Given the description of an element on the screen output the (x, y) to click on. 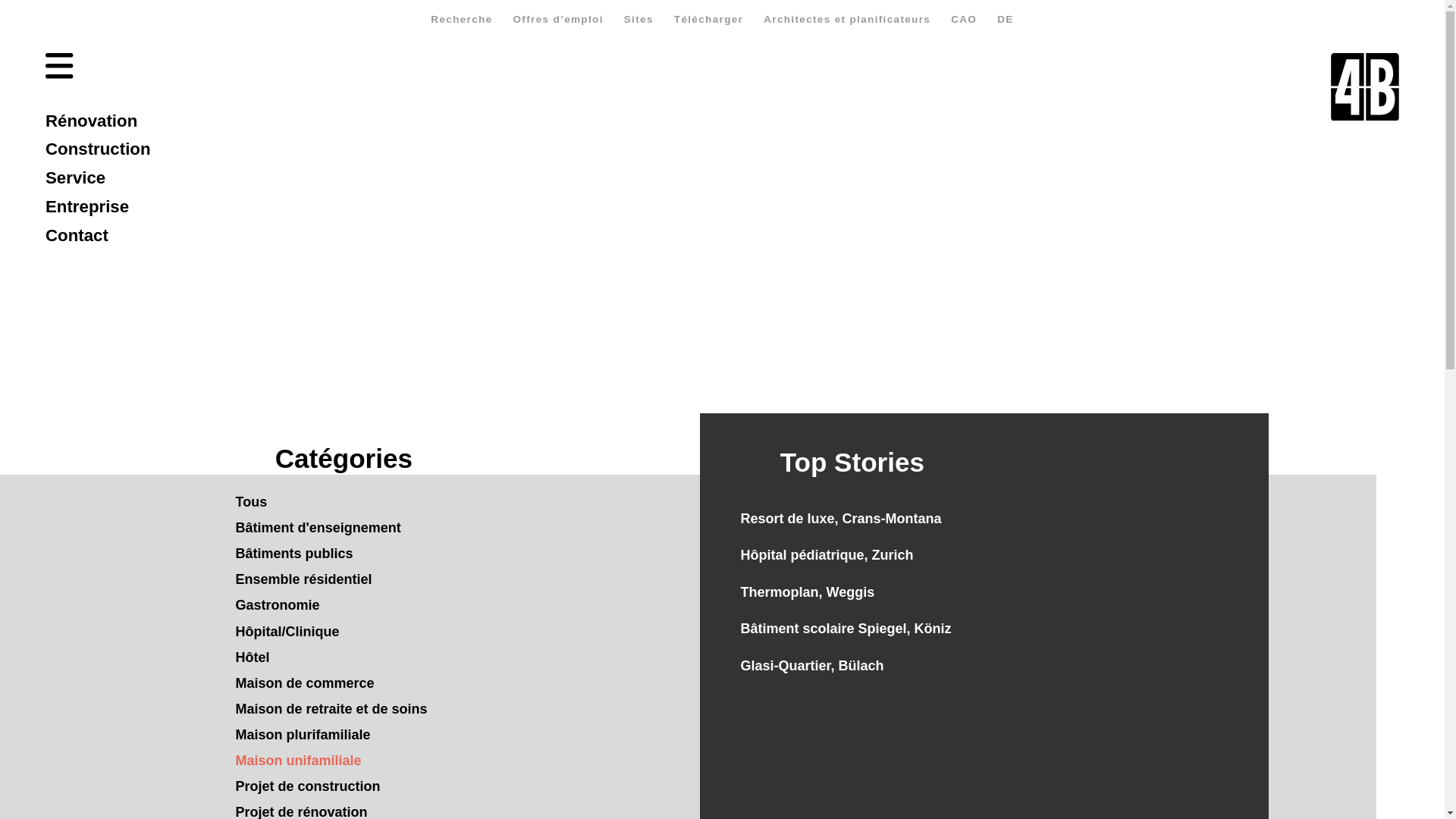
Projet de construction Element type: text (307, 785)
Tous Element type: text (250, 501)
4B Element type: hover (1364, 87)
Sites Element type: text (638, 19)
Resort de luxe, Crans-Montana Element type: text (826, 518)
Entreprise Element type: text (97, 206)
CAO Element type: text (964, 19)
Architectes et planificateurs Element type: text (847, 19)
Service Element type: text (97, 177)
Toggle Menu Element type: text (55, 62)
Recherche Element type: text (461, 19)
Maison unifamiliale Element type: text (297, 760)
Gastronomie Element type: text (277, 604)
Maison plurifamiliale Element type: text (302, 734)
Contact Element type: text (97, 235)
Construction Element type: text (97, 149)
Maison de commerce Element type: text (304, 682)
DE Element type: text (1005, 19)
Thermoplan, Weggis Element type: text (793, 591)
Maison de retraite et de soins Element type: text (330, 708)
